Given the description of an element on the screen output the (x, y) to click on. 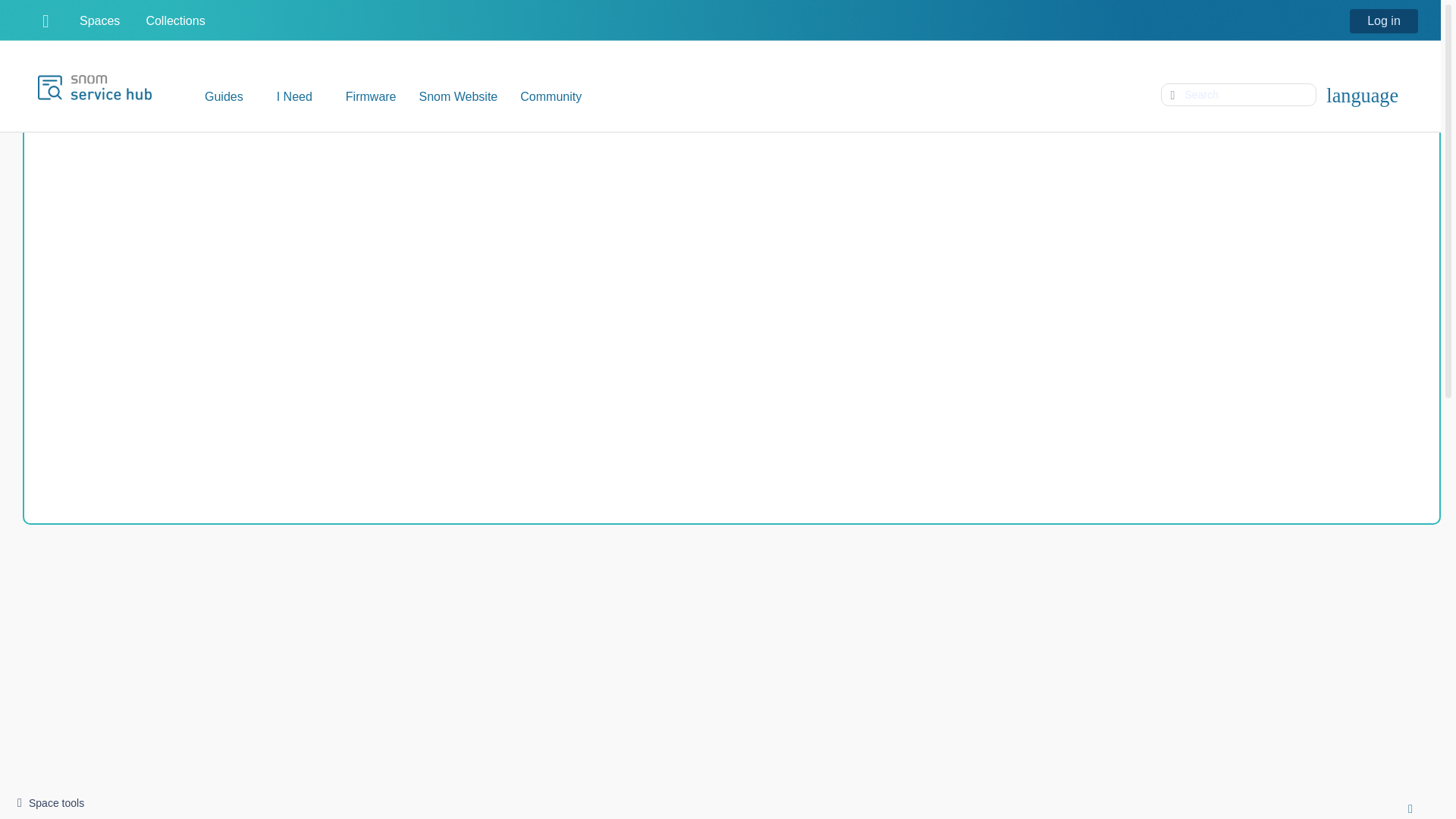
Guides (229, 96)
Linked Applications (51, 20)
D-Series Settings (198, 147)
Snom Service Hub (81, 147)
Spaces (104, 20)
Community (550, 96)
Spaces (104, 20)
Firmware (370, 96)
Snom Website (458, 96)
Show all breadcrumbs (136, 148)
